Given the description of an element on the screen output the (x, y) to click on. 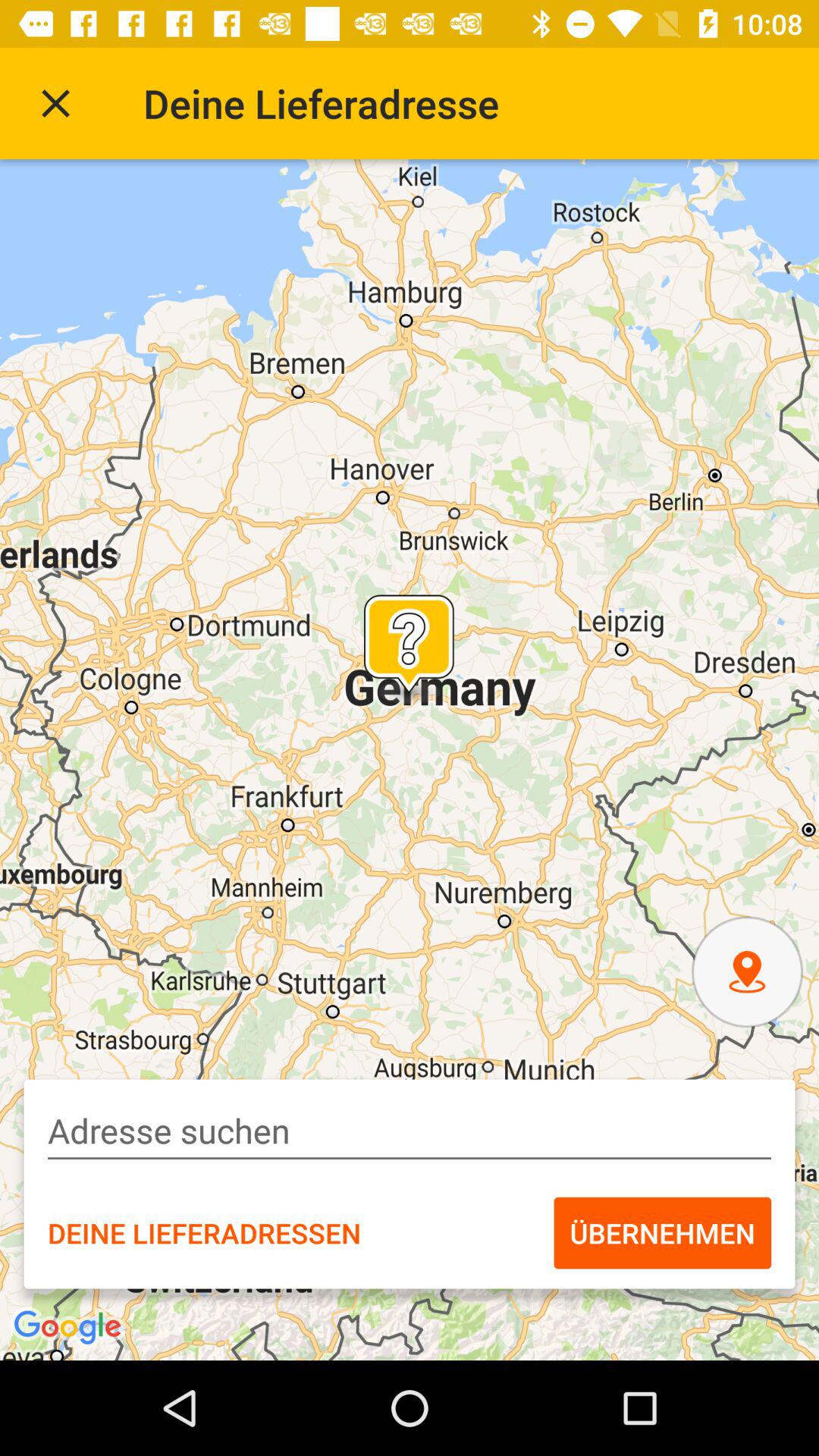
press the icon next to deine lieferadressen item (662, 1232)
